Given the description of an element on the screen output the (x, y) to click on. 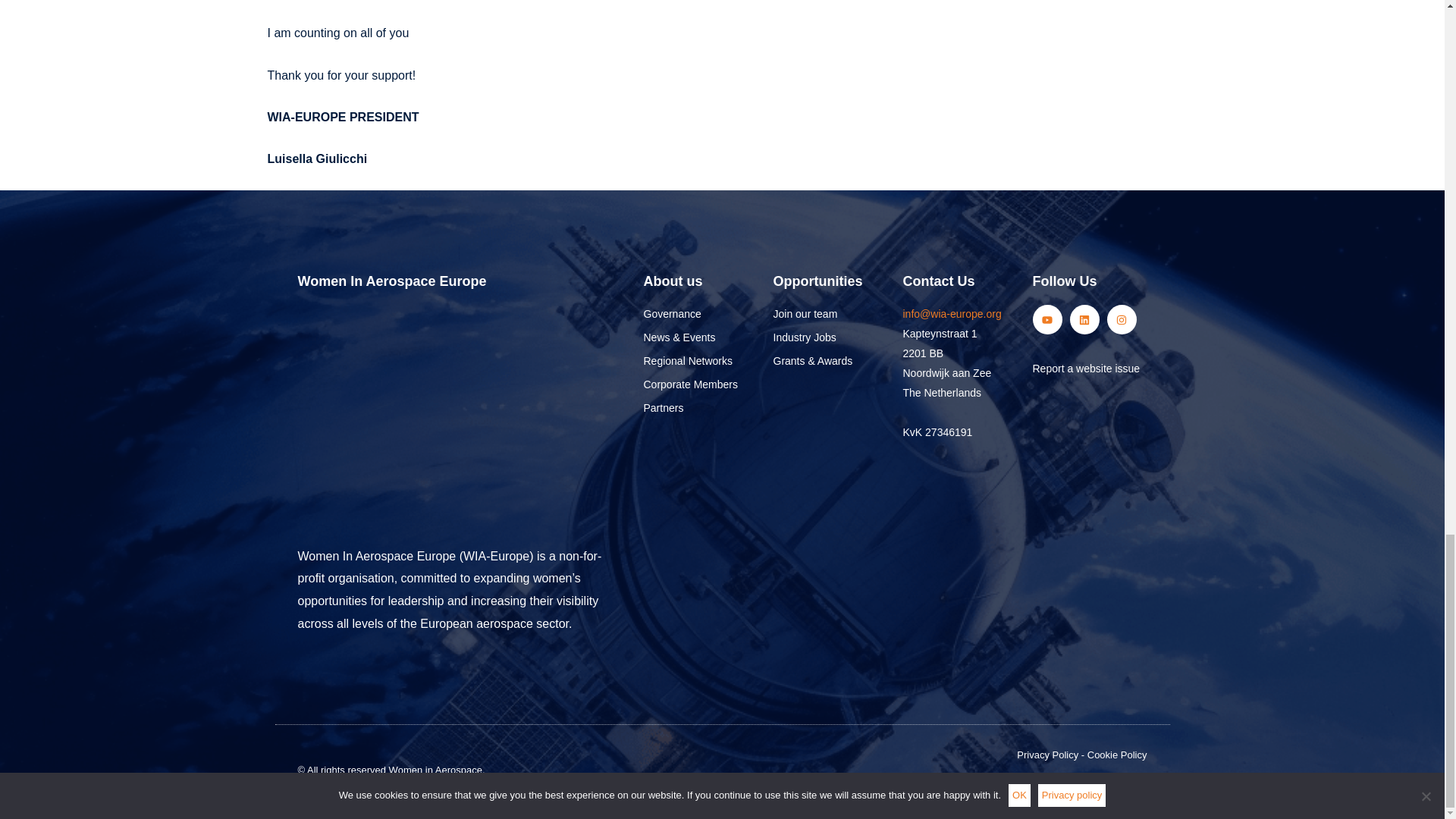
Women In Aerospace Europe (462, 281)
Report a website issue (1092, 319)
Contact Us (1089, 369)
Admin (959, 281)
Follow Us (938, 785)
Privacy Policy - Cookie Policy (1089, 281)
Opportunities (938, 754)
About us (830, 281)
